Given the description of an element on the screen output the (x, y) to click on. 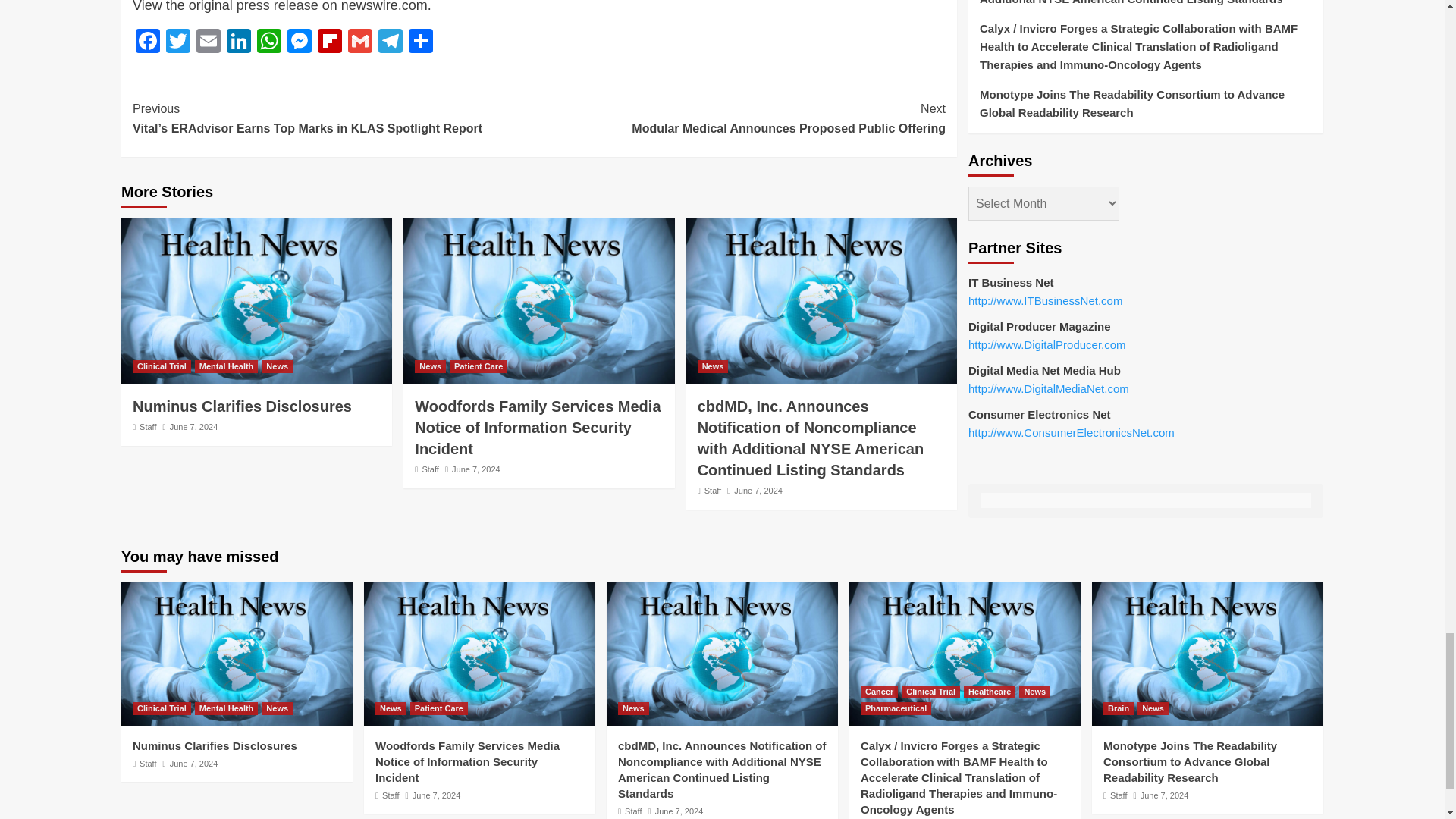
Messenger (298, 42)
Flipboard (329, 42)
Email (208, 42)
Messenger (298, 42)
LinkedIn (238, 42)
press release (276, 6)
LinkedIn (238, 42)
Twitter (178, 42)
WhatsApp (268, 42)
Facebook (147, 42)
Email (208, 42)
Twitter (178, 42)
WhatsApp (268, 42)
Facebook (147, 42)
